Given the description of an element on the screen output the (x, y) to click on. 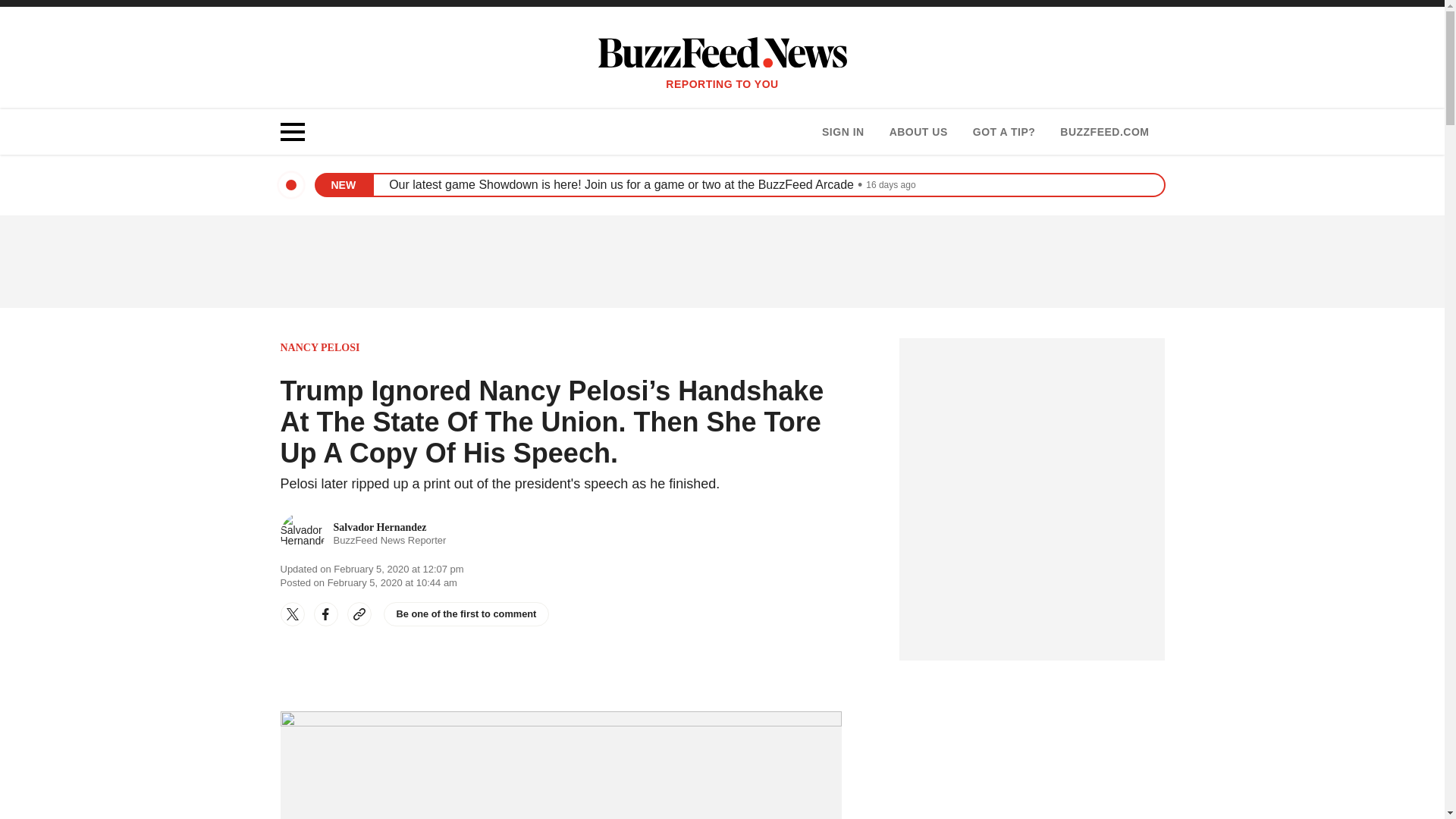
BUZZFEED.COM (1103, 131)
Be one of the first to comment (467, 613)
NANCY PELOSI (320, 347)
ABOUT US (363, 534)
SIGN IN (917, 131)
GOT A TIP? (842, 131)
